Given the description of an element on the screen output the (x, y) to click on. 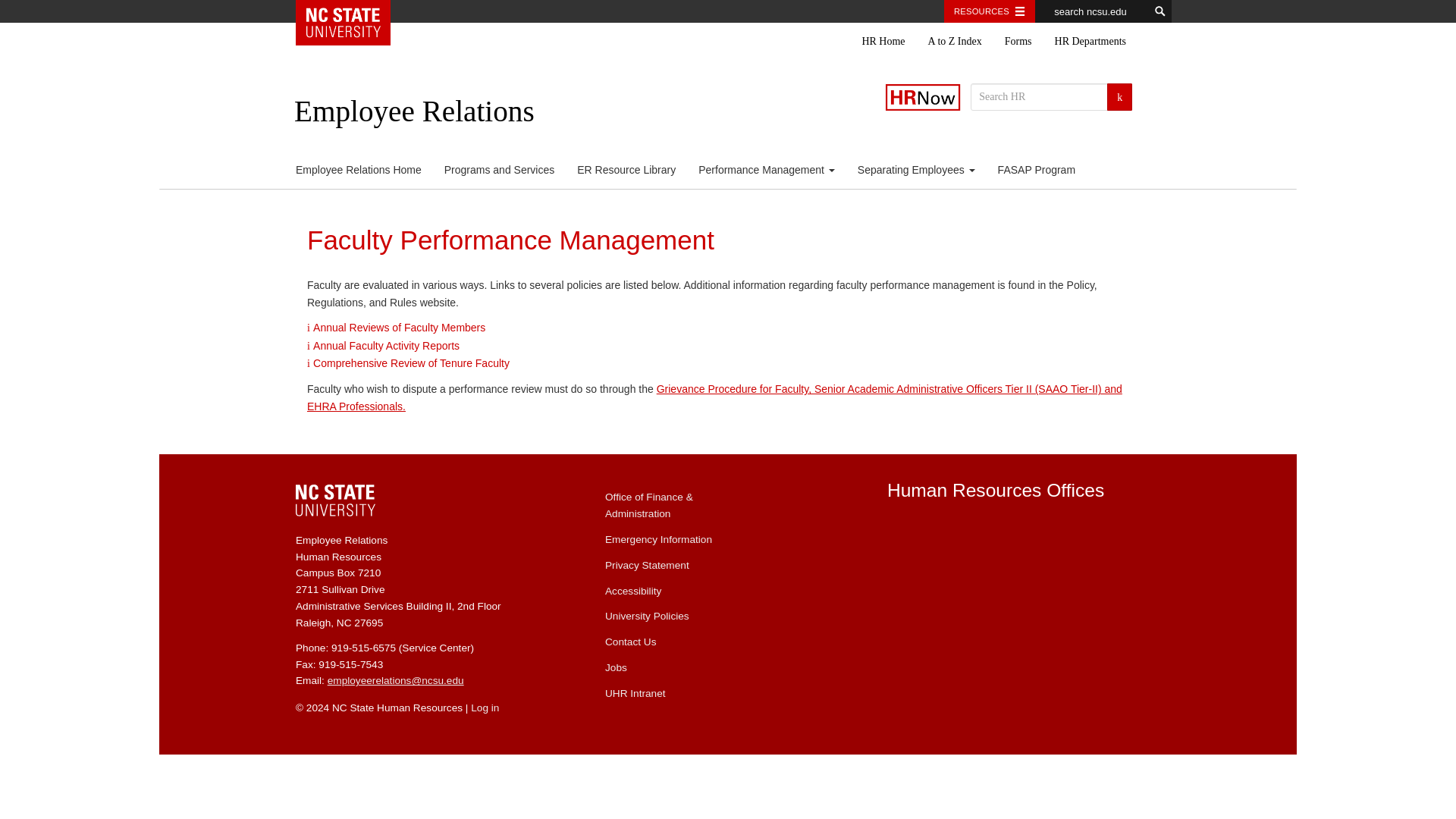
search (1160, 11)
NC State Home (348, 22)
HR Departments (1090, 41)
Comprehensive Review of Tenure Faculty (411, 363)
Forms (1017, 41)
RESOURCES (989, 11)
HR Home (888, 41)
Search (1119, 96)
search (1160, 11)
Employee Relations (414, 111)
